Given the description of an element on the screen output the (x, y) to click on. 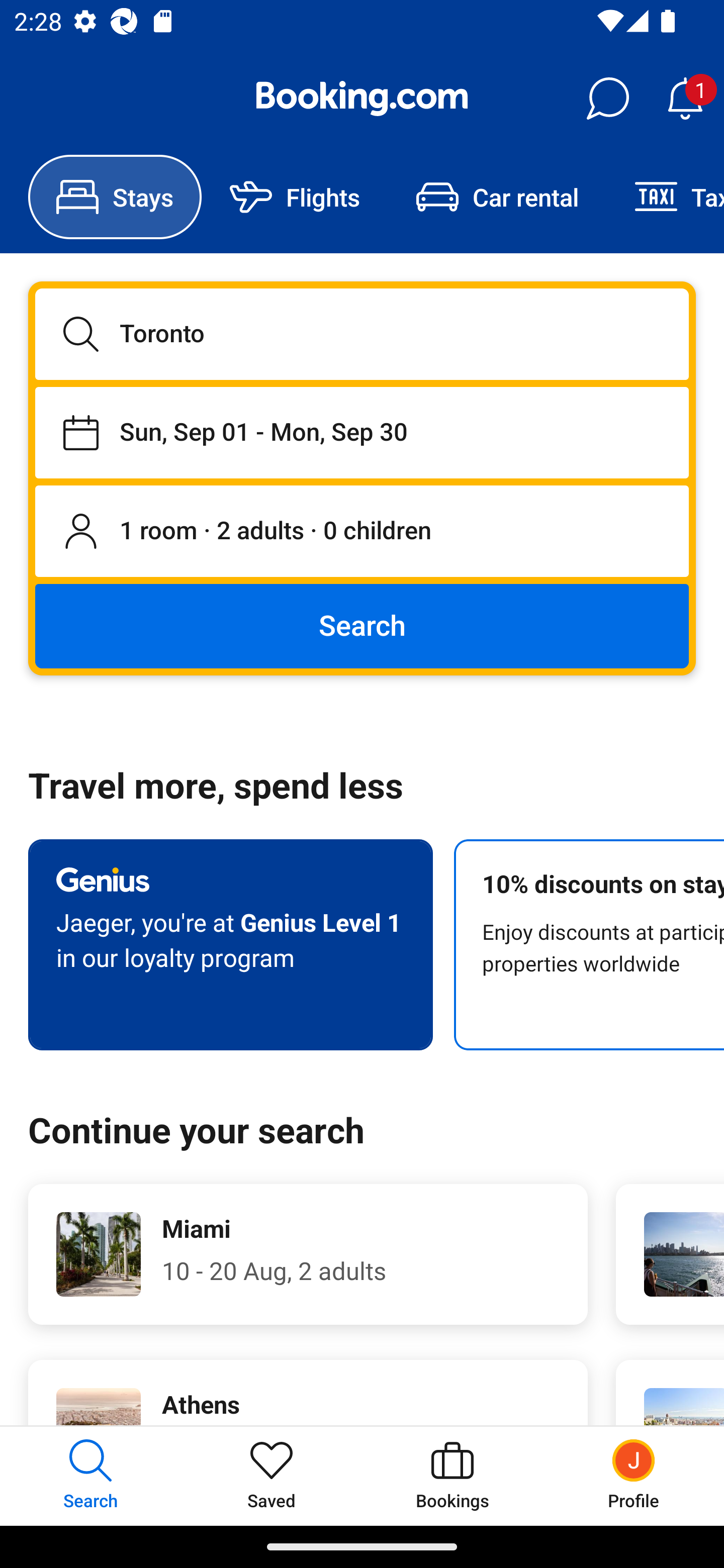
Messages (607, 98)
Notifications (685, 98)
Stays (114, 197)
Flights (294, 197)
Car rental (497, 197)
Taxi (665, 197)
Toronto (361, 333)
Staying from Sun, Sep 01 until Mon, Sep 30 (361, 432)
1 room, 2 adults, 0 children (361, 531)
Search (361, 625)
Miami 10 - 20 Aug, 2 adults (307, 1253)
Saved (271, 1475)
Bookings (452, 1475)
Profile (633, 1475)
